Given the description of an element on the screen output the (x, y) to click on. 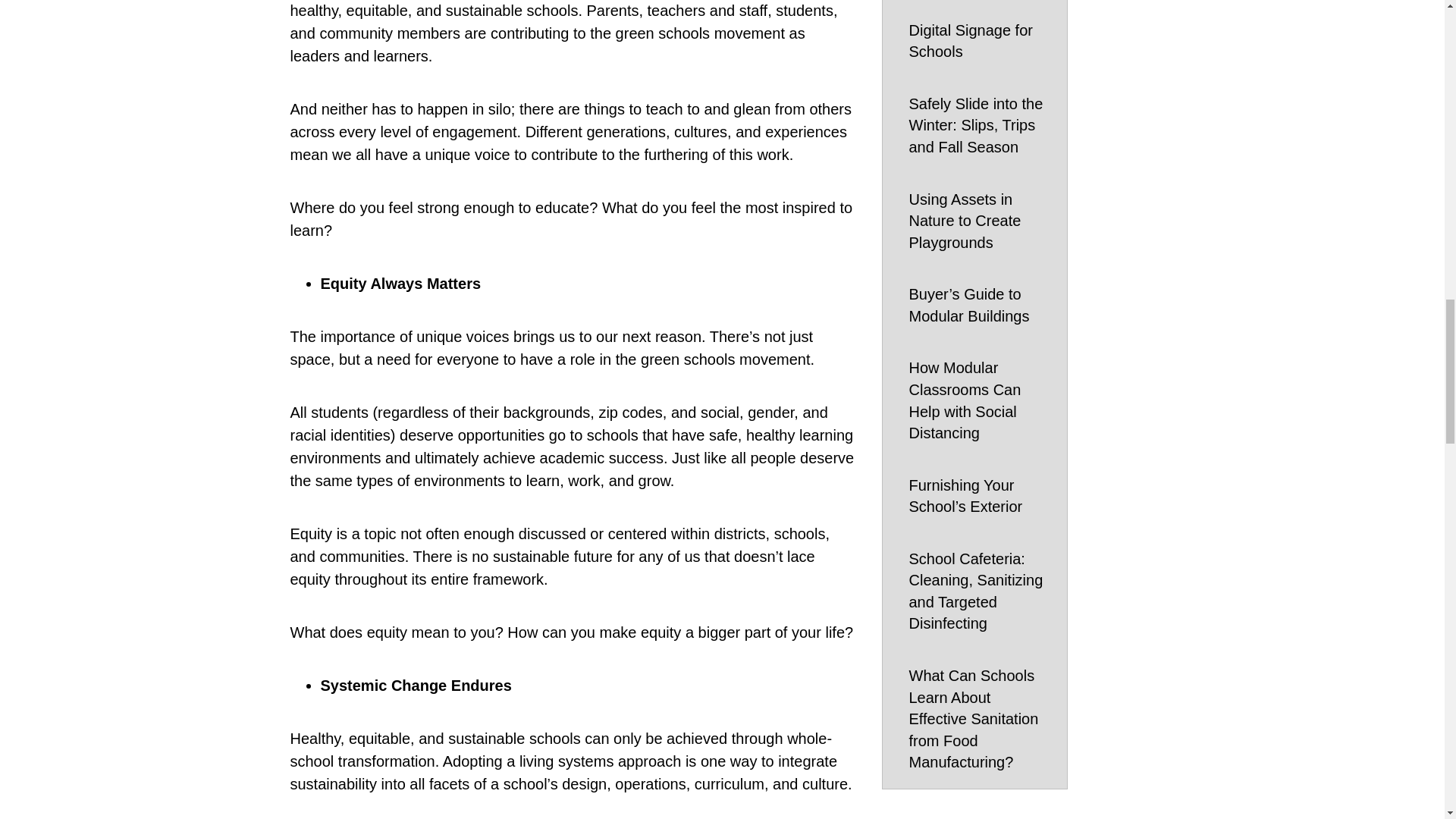
How Modular Classrooms Can Help with Social Distancing (979, 400)
Digital Signage for Schools (979, 41)
Safely Slide into the Winter: Slips, Trips and Fall Season (979, 125)
Using Assets in Nature to Create Playgrounds (979, 220)
